Given the description of an element on the screen output the (x, y) to click on. 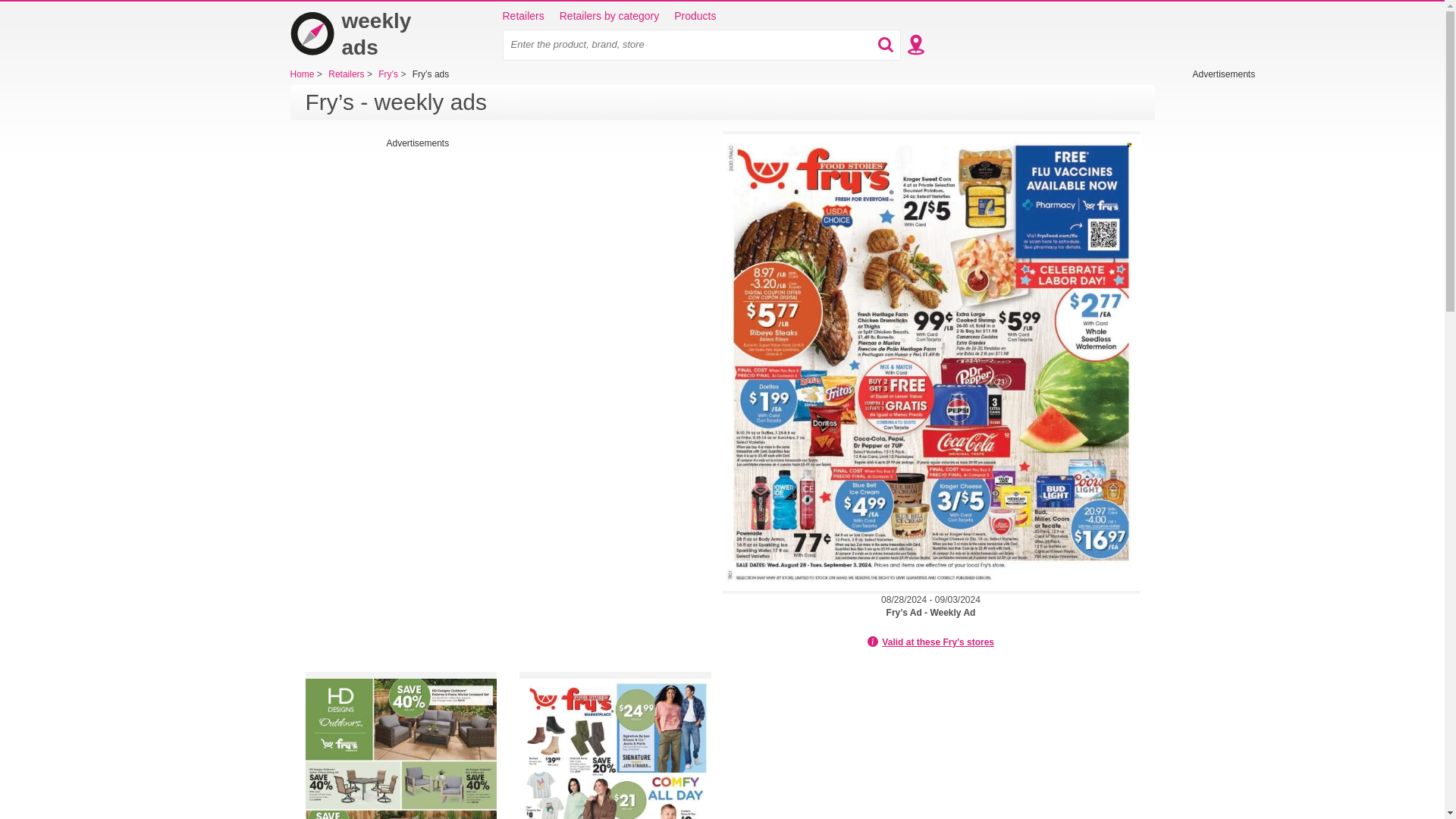
Home (365, 33)
weekly ads (365, 33)
Products (695, 16)
Retailers (522, 16)
Home (302, 73)
Retailers by category (609, 16)
Retailers (347, 73)
